Given the description of an element on the screen output the (x, y) to click on. 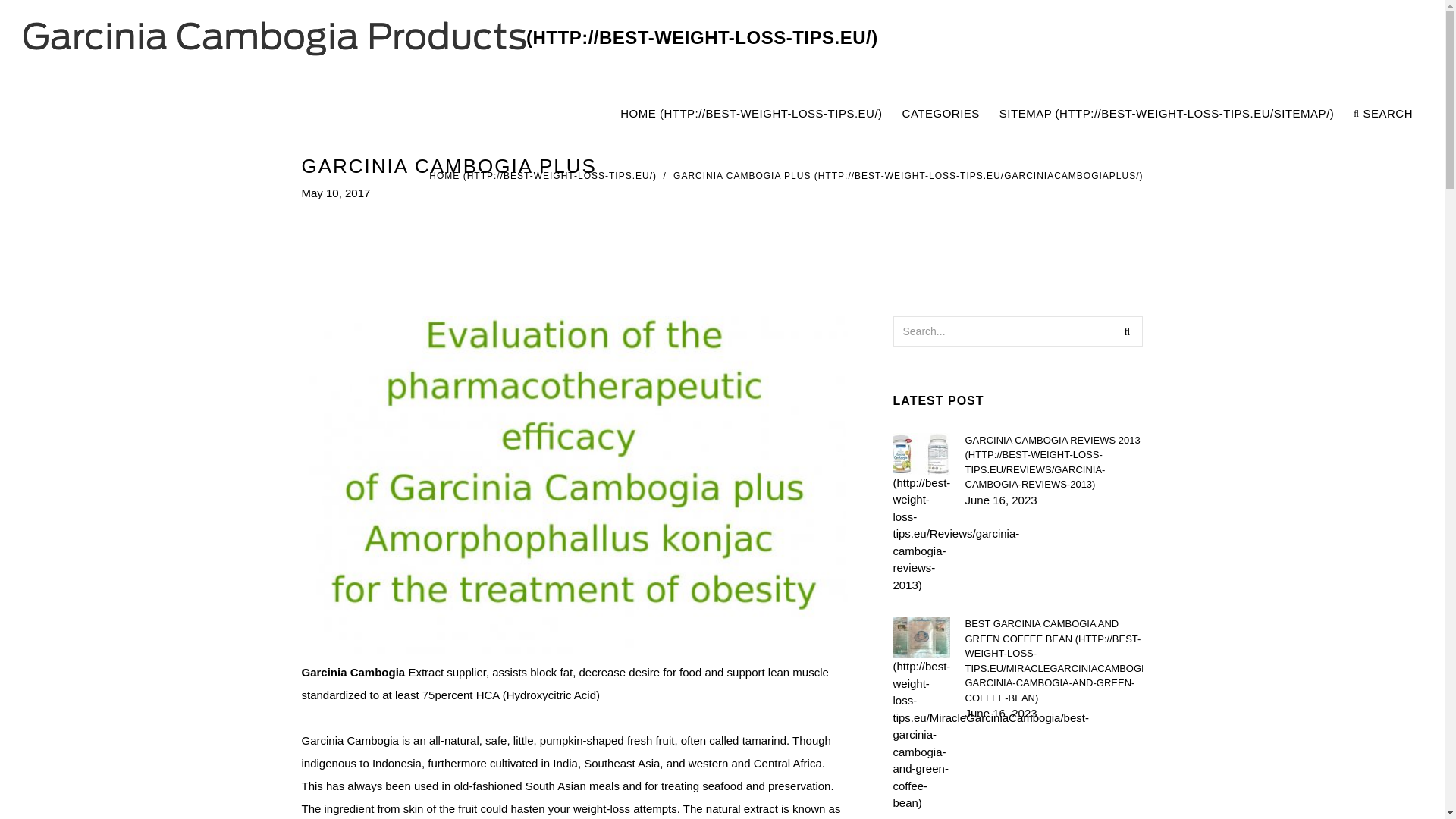
Search (1126, 330)
CATEGORIES (940, 113)
GARCINIA CAMBOGIA REVIEWS 2013 (1052, 461)
Garcinia Cambogia Products (450, 38)
GARCINIA CAMBOGIA PLUS (907, 175)
SEARCH (1382, 113)
BEST GARCINIA CAMBOGIA AND GREEN COFFEE BEAN (1052, 660)
SITEMAP (1166, 113)
HOME (542, 175)
HOME (751, 113)
